Given the description of an element on the screen output the (x, y) to click on. 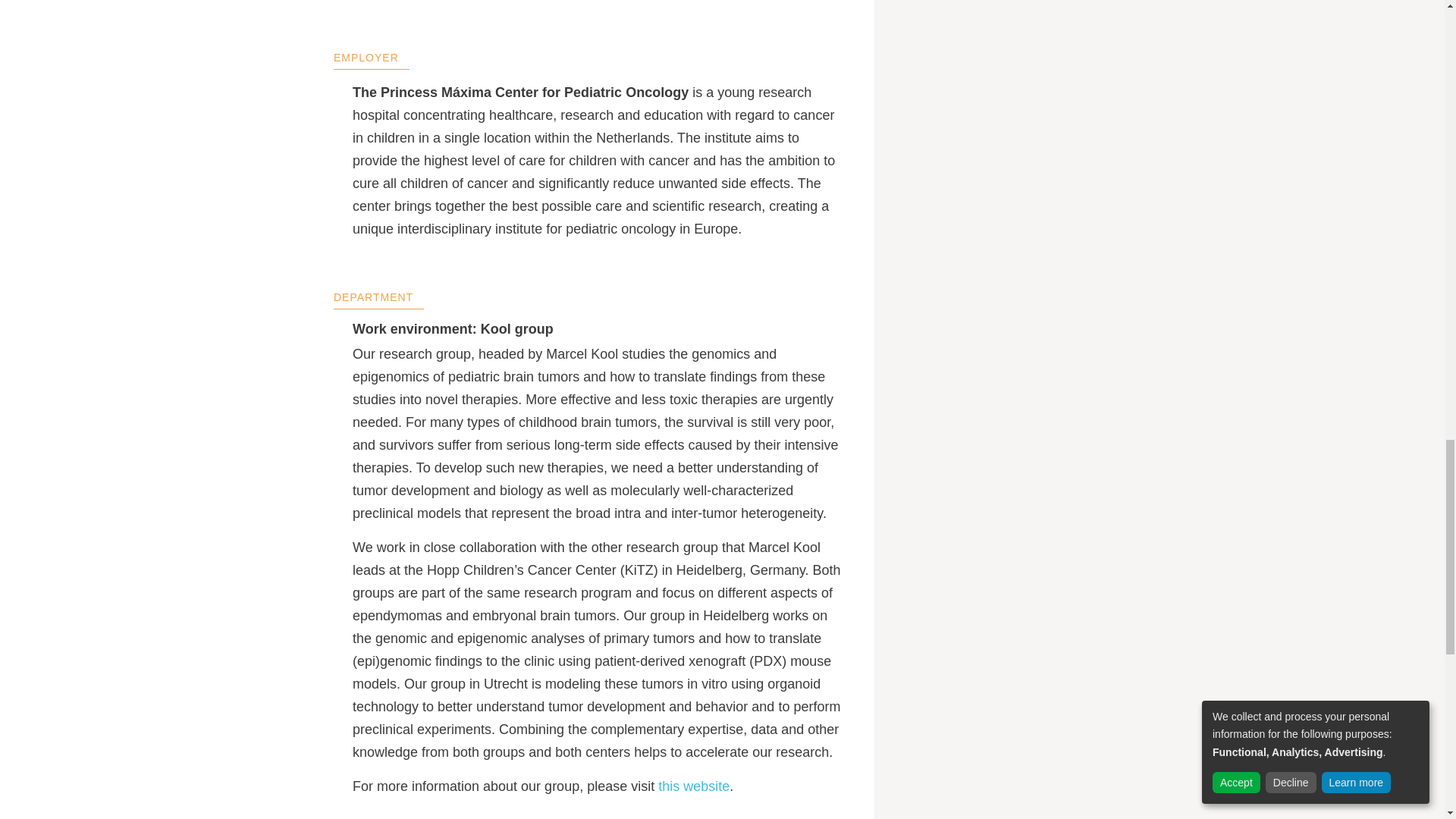
this website (693, 785)
